Given the description of an element on the screen output the (x, y) to click on. 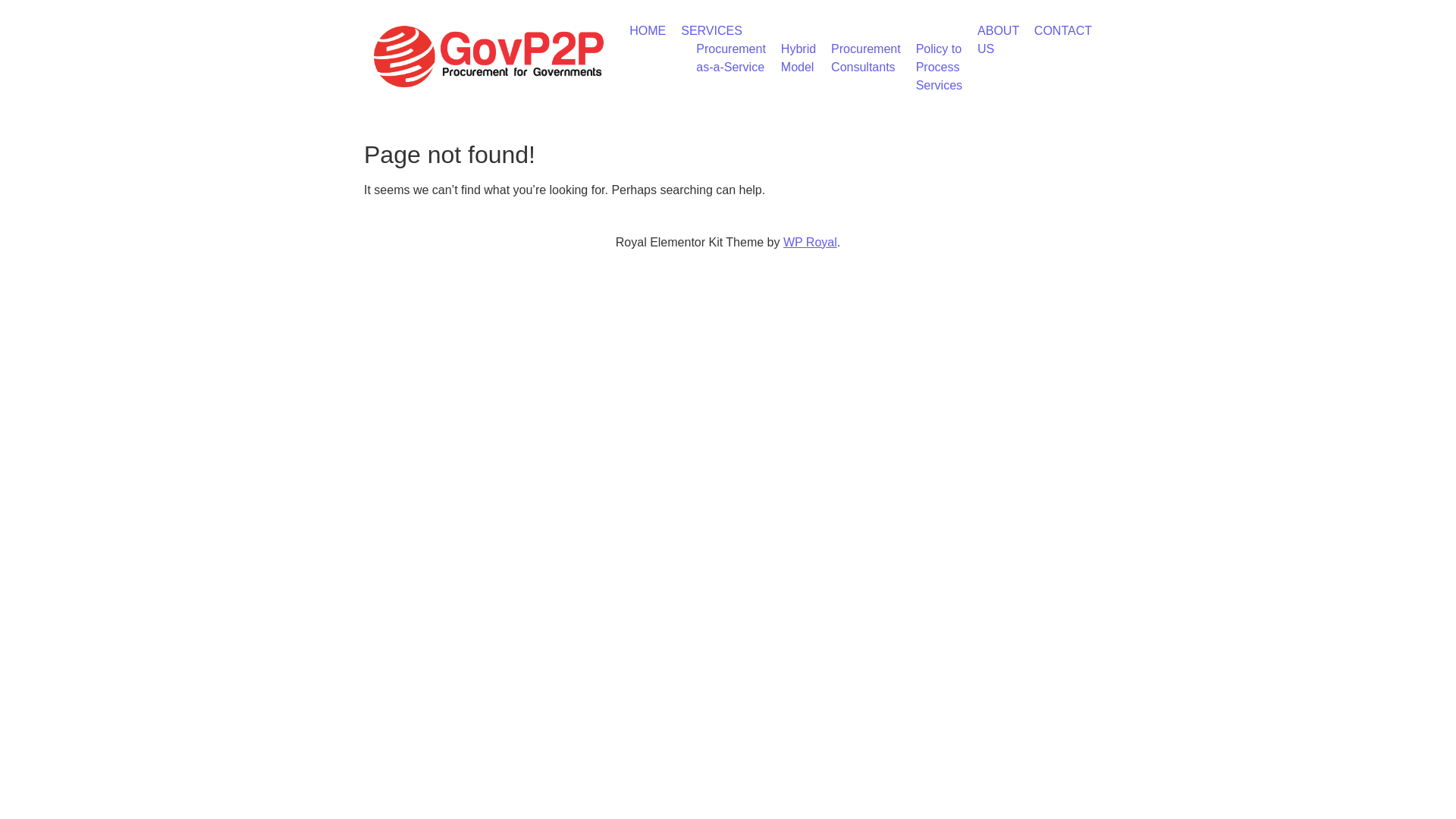
SERVICES Element type: text (711, 30)
Procurement as-a-Service Element type: text (730, 57)
Hybrid Model Element type: text (798, 57)
WP Royal Element type: text (810, 241)
Policy to Process Services Element type: text (939, 66)
HOME Element type: text (647, 30)
ABOUT US Element type: text (998, 39)
Procurement Consultants Element type: text (865, 57)
CONTACT Element type: text (1063, 30)
